Given the description of an element on the screen output the (x, y) to click on. 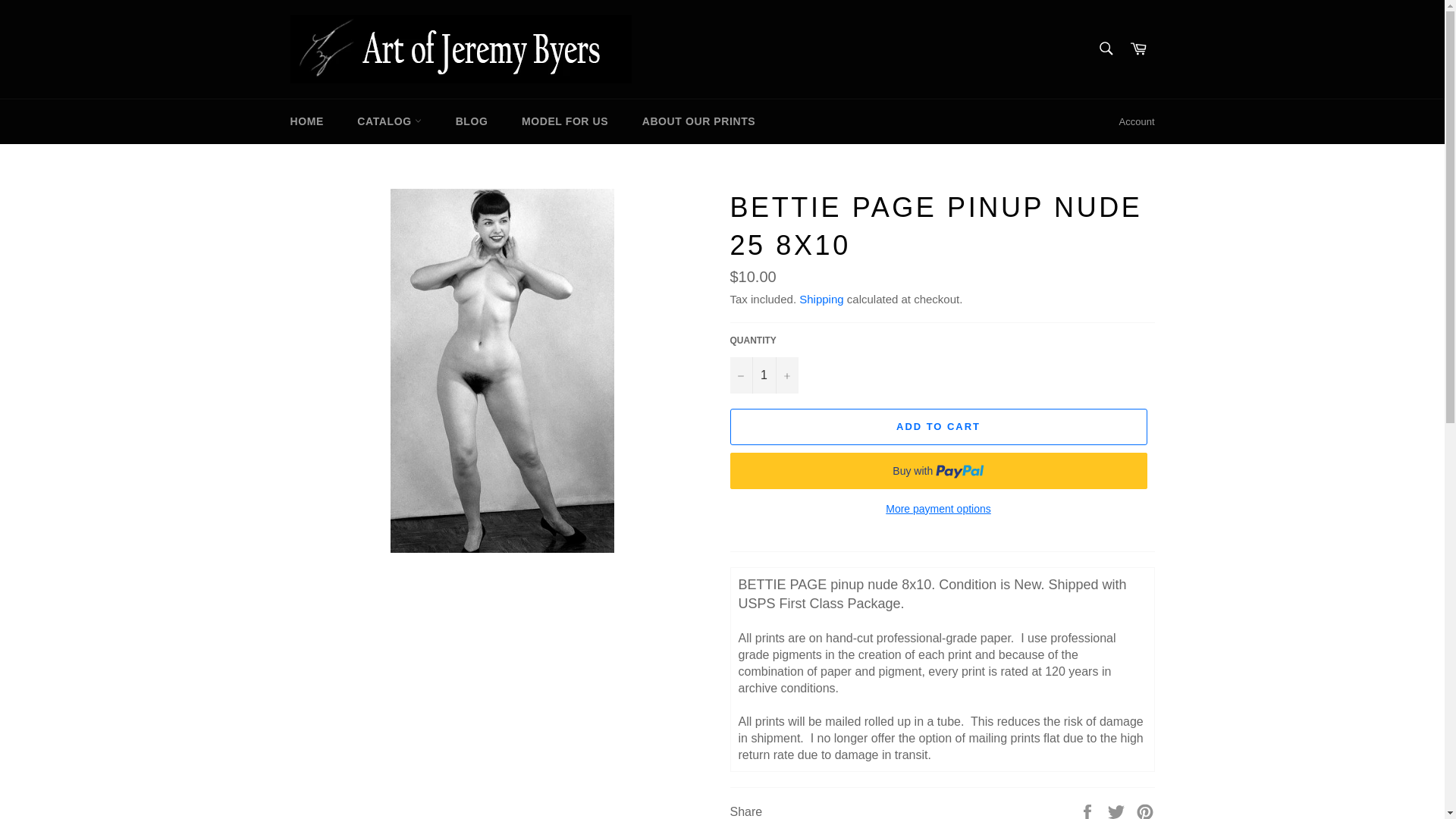
MODEL FOR US (564, 121)
Cart (1138, 48)
Pin on Pinterest (1144, 810)
Tweet on Twitter (1117, 810)
Share on Facebook (1088, 810)
CATALOG (389, 121)
Search (1104, 47)
1 (763, 375)
BLOG (472, 121)
HOME (306, 121)
